Given the description of an element on the screen output the (x, y) to click on. 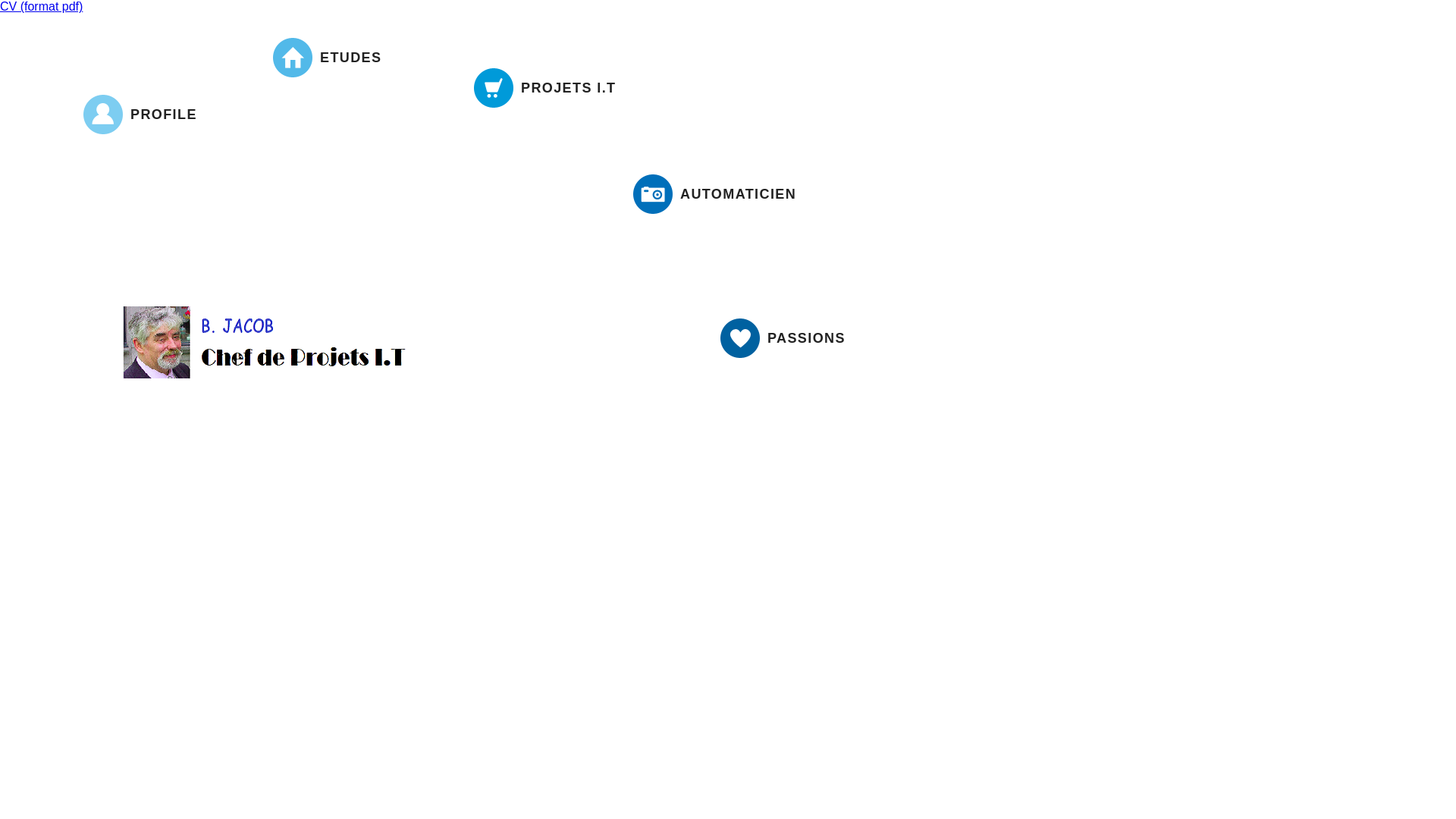
CV (format pdf) Element type: text (41, 6)
